Given the description of an element on the screen output the (x, y) to click on. 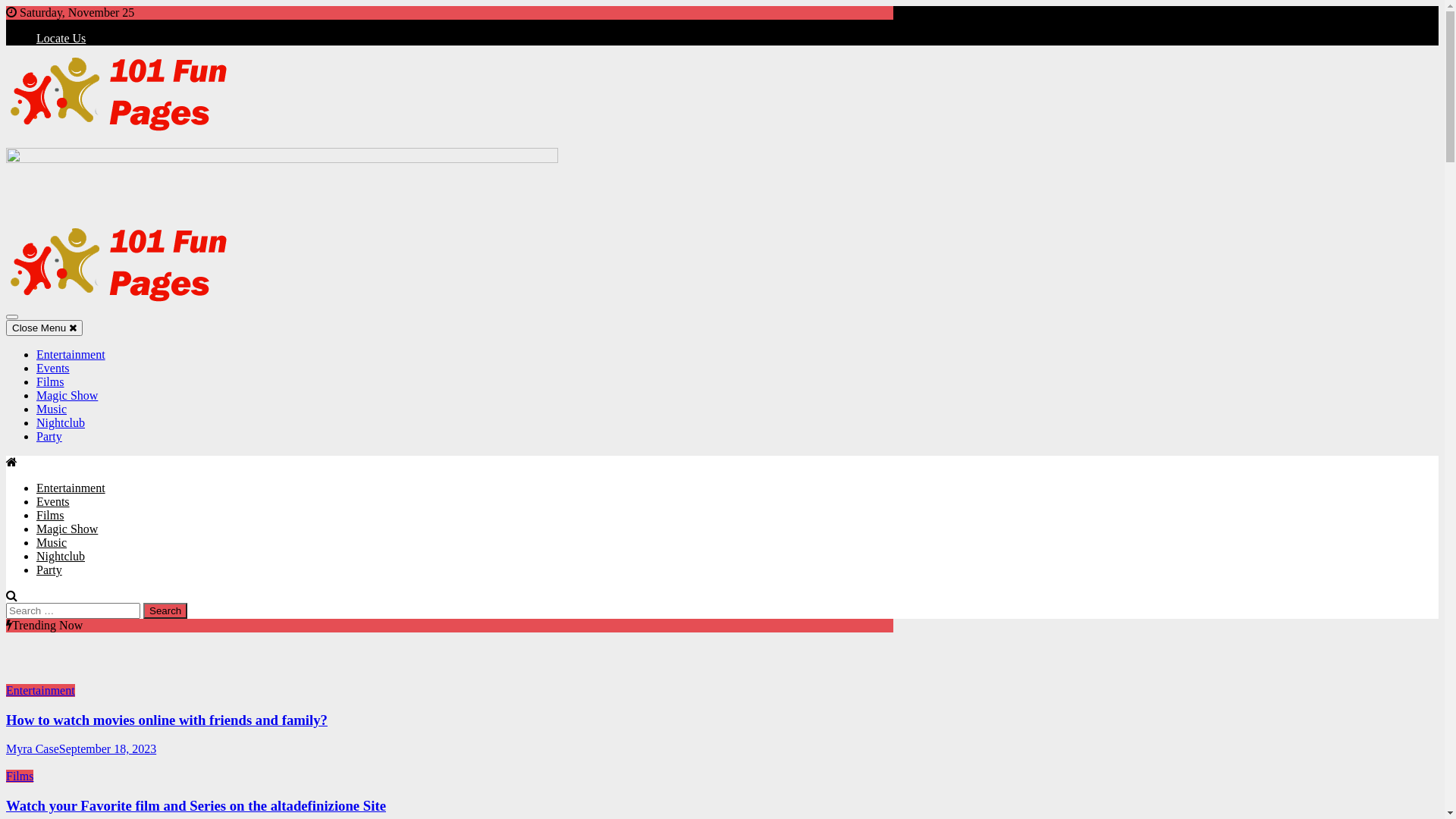
Music Element type: text (51, 542)
Nightclub Element type: text (60, 422)
Entertainment Element type: text (40, 690)
Films Element type: text (49, 514)
Entertainment Element type: text (70, 354)
Magic Show Element type: text (66, 395)
Myra Case Element type: text (32, 748)
Nightclub Element type: text (60, 555)
Music Element type: text (51, 408)
Magic Show Element type: text (66, 528)
Events Element type: text (52, 367)
Films Element type: text (19, 775)
Entertainment Element type: text (70, 487)
How to watch movies online with friends and family? Element type: text (166, 720)
Locate Us Element type: text (60, 37)
Skip to content Element type: text (5, 5)
Search Element type: text (165, 610)
Party Element type: text (49, 435)
Films Element type: text (49, 381)
September 18, 2023 Element type: text (107, 748)
Events Element type: text (52, 501)
Close Menu Element type: text (44, 327)
Party Element type: text (49, 569)
